Given the description of an element on the screen output the (x, y) to click on. 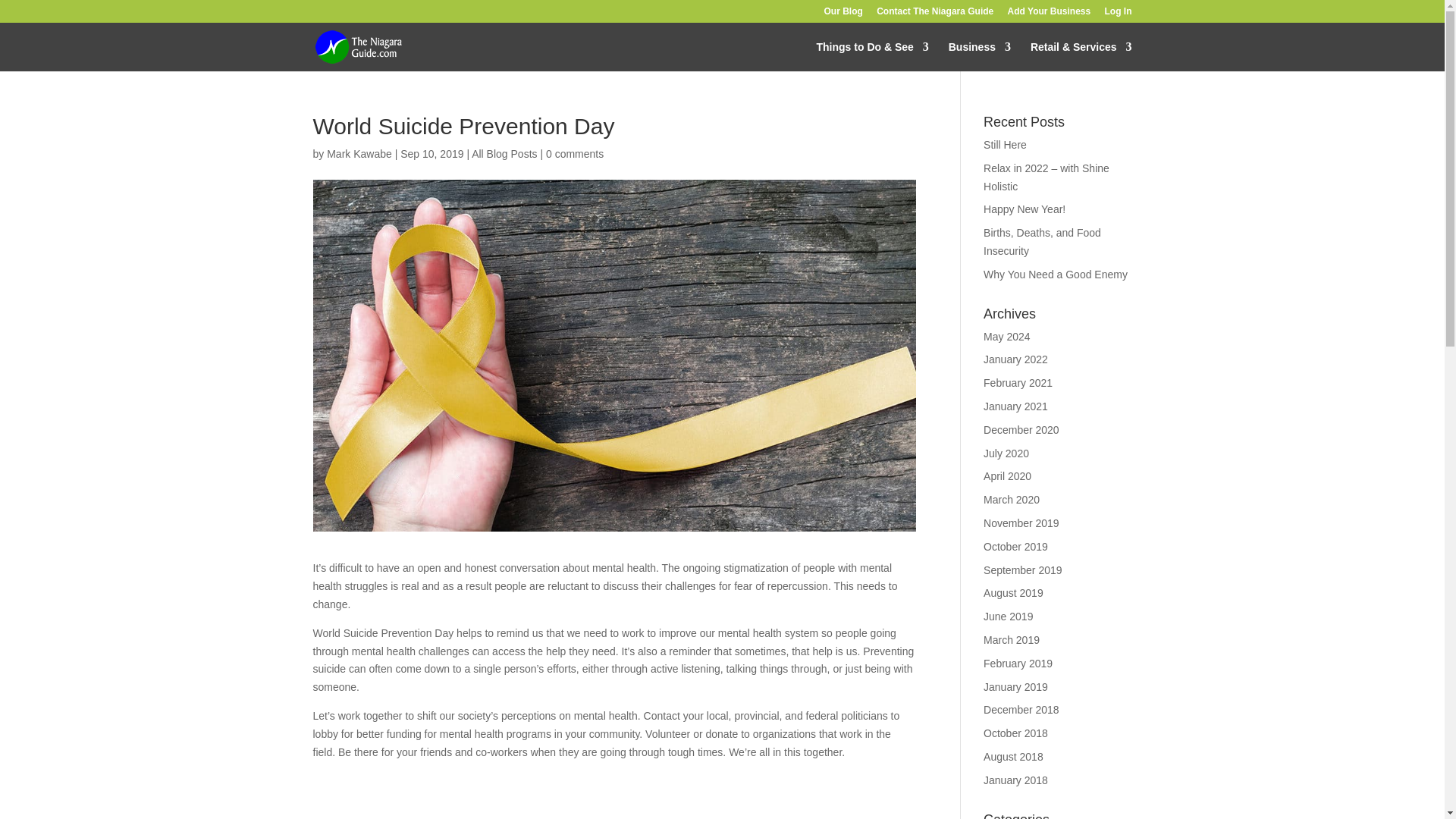
Posts by Mark Kawabe (358, 153)
Log In (1117, 14)
Our Blog (843, 14)
Add Your Business (1048, 14)
Business (979, 56)
Contact The Niagara Guide (934, 14)
